Given the description of an element on the screen output the (x, y) to click on. 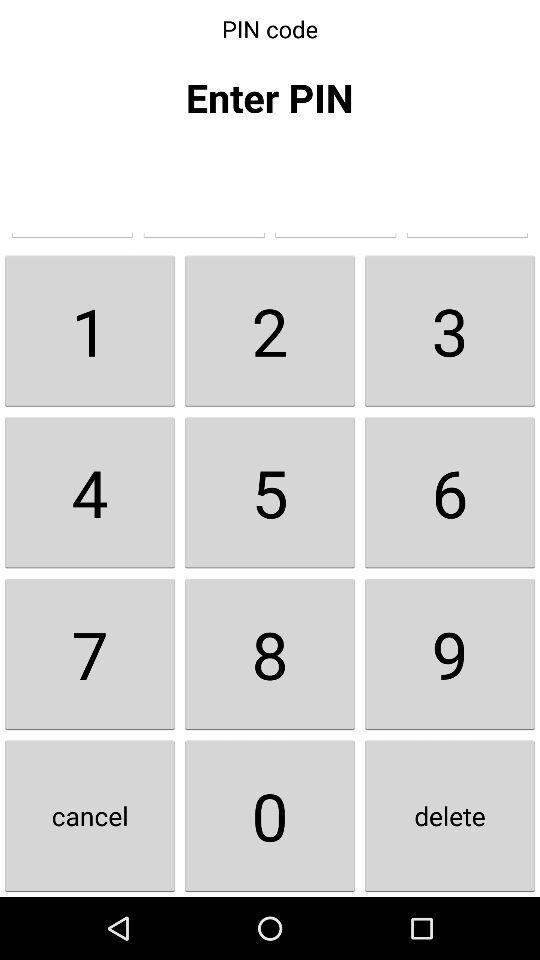
choose the icon below the 7 icon (90, 815)
